Given the description of an element on the screen output the (x, y) to click on. 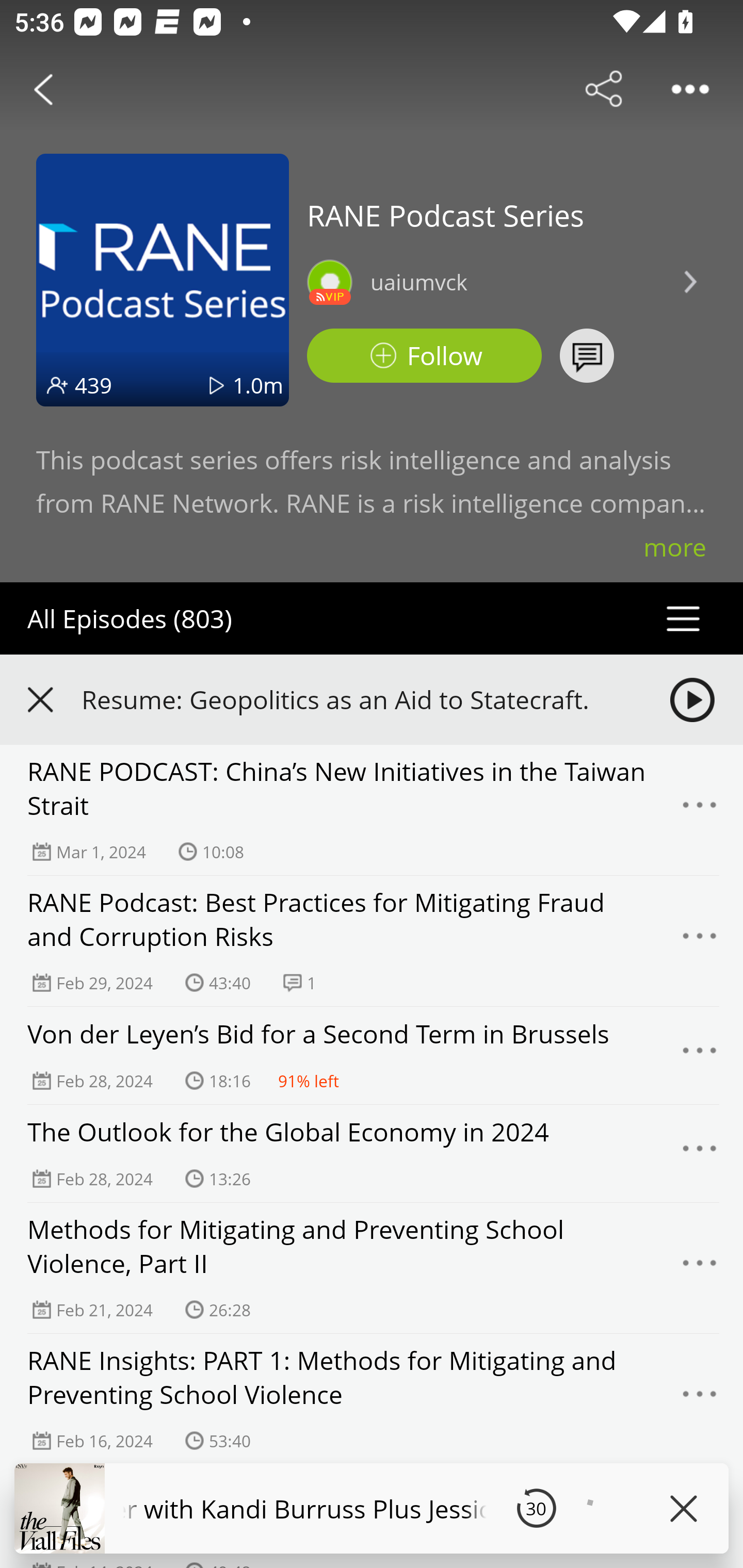
Back (43, 88)
Podbean Follow (423, 355)
439 (93, 384)
more (674, 546)
Resume: Geopolitics as an Aid to Statecraft. (371, 698)
Resume: Geopolitics as an Aid to Statecraft. (357, 698)
Menu (699, 809)
Menu (699, 941)
Menu (699, 1055)
Menu (699, 1153)
Menu (699, 1268)
Menu (699, 1399)
30 Seek Backward (536, 1508)
